Given the description of an element on the screen output the (x, y) to click on. 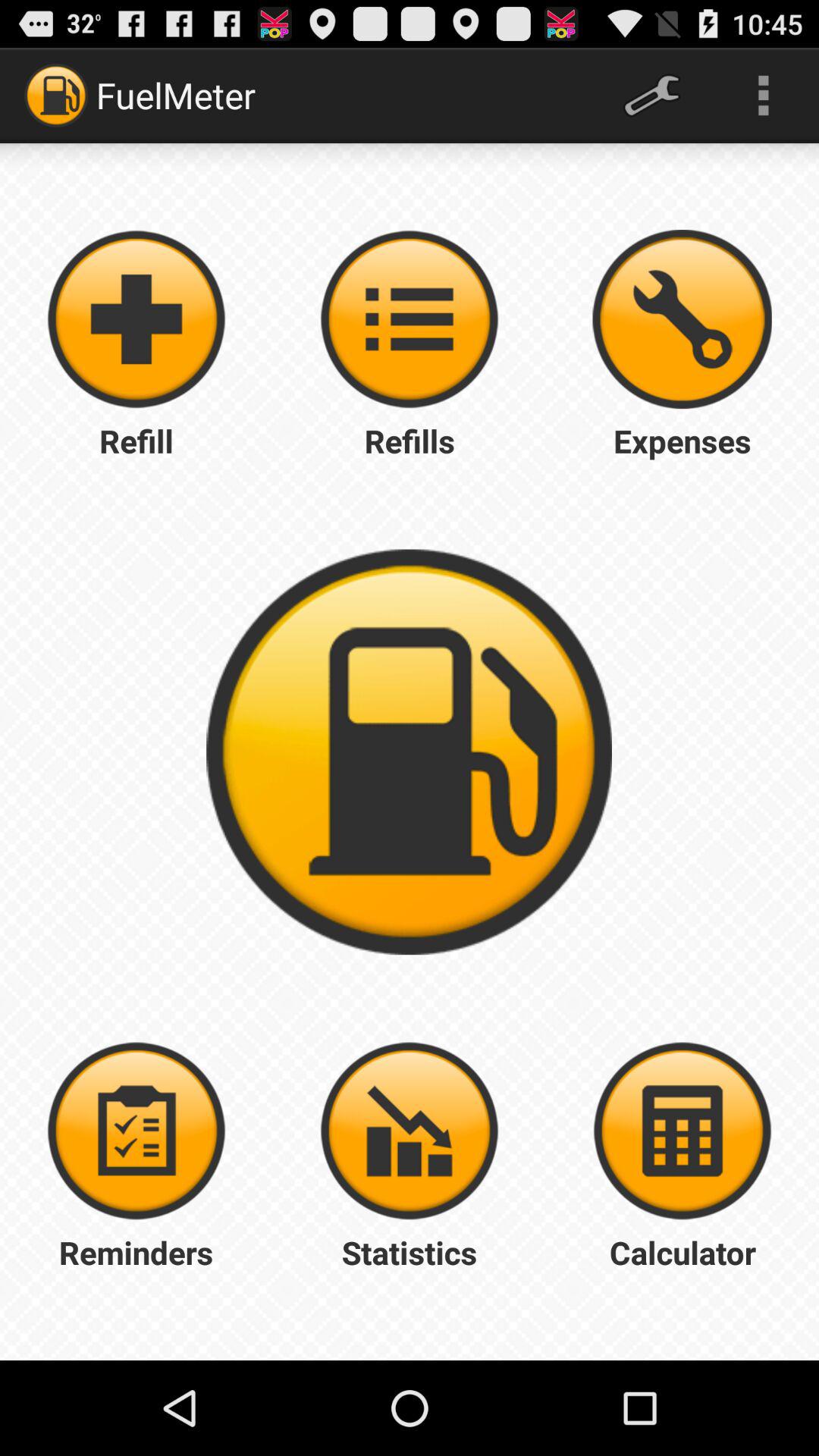
click reminders icon (136, 1130)
